Given the description of an element on the screen output the (x, y) to click on. 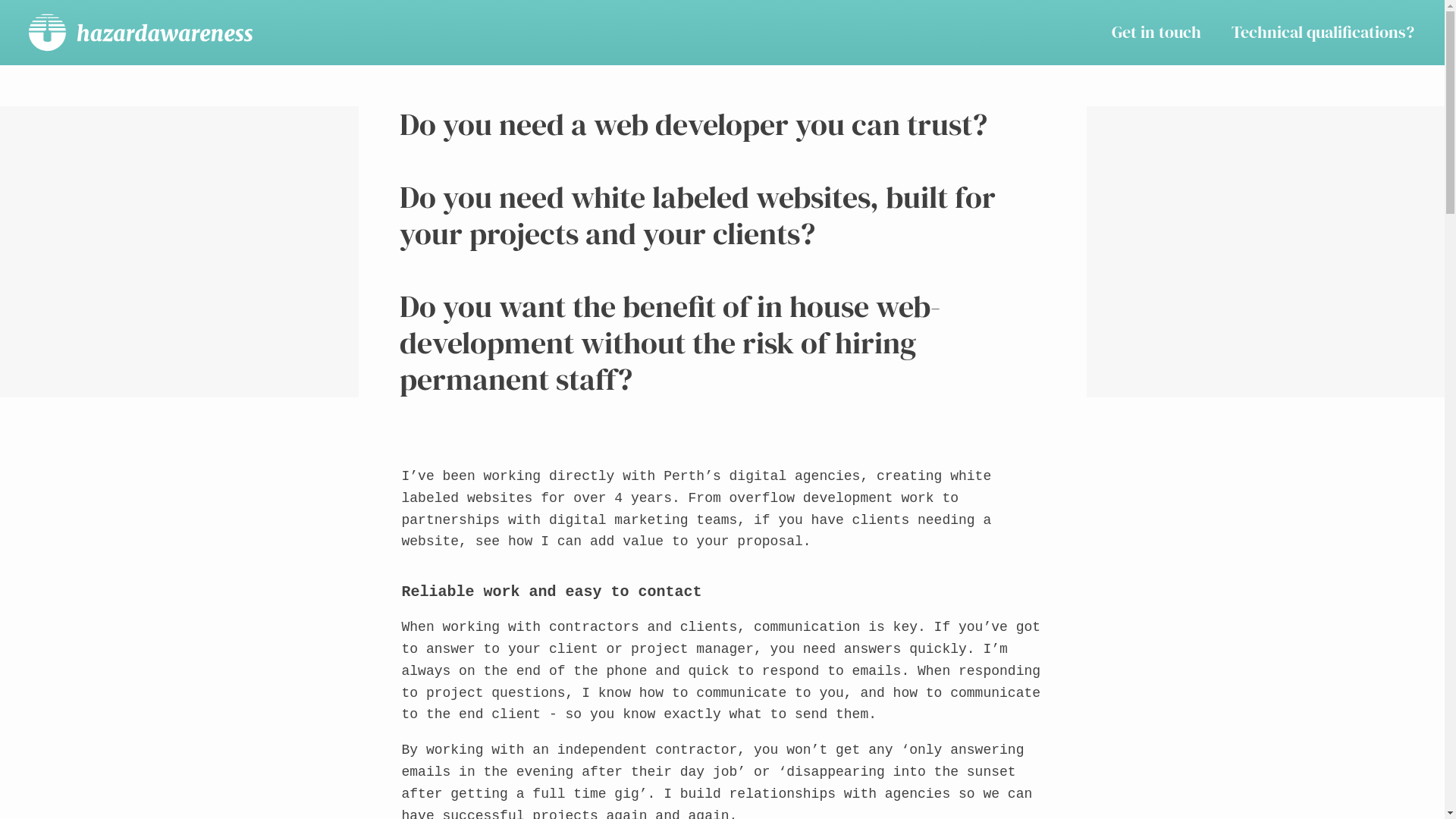
Technical qualifications? Element type: text (1322, 31)
Get in touch Element type: text (1156, 31)
